Given the description of an element on the screen output the (x, y) to click on. 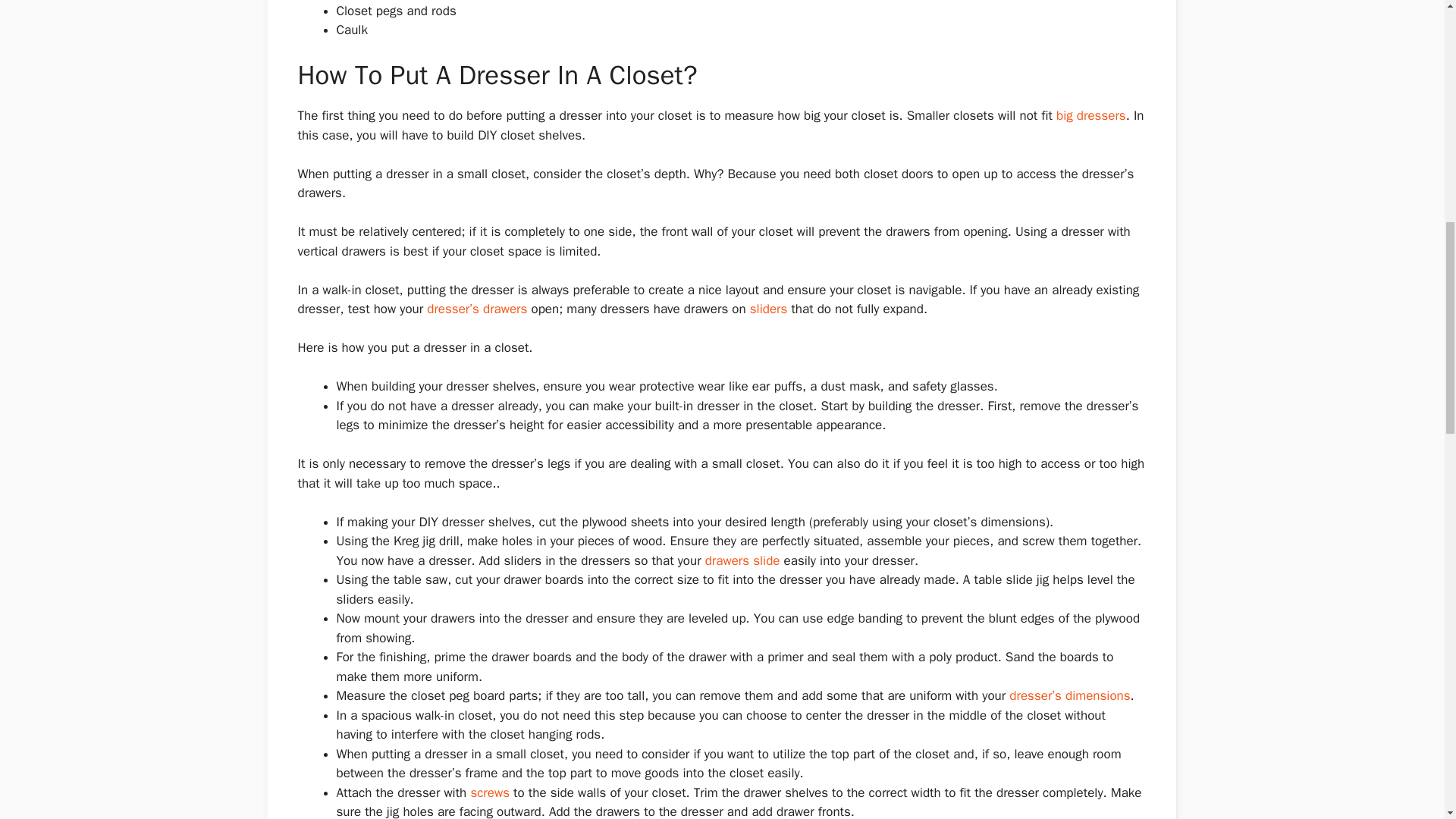
big dressers (1091, 115)
drawers slide (742, 560)
screws (489, 792)
sliders (768, 308)
